Given the description of an element on the screen output the (x, y) to click on. 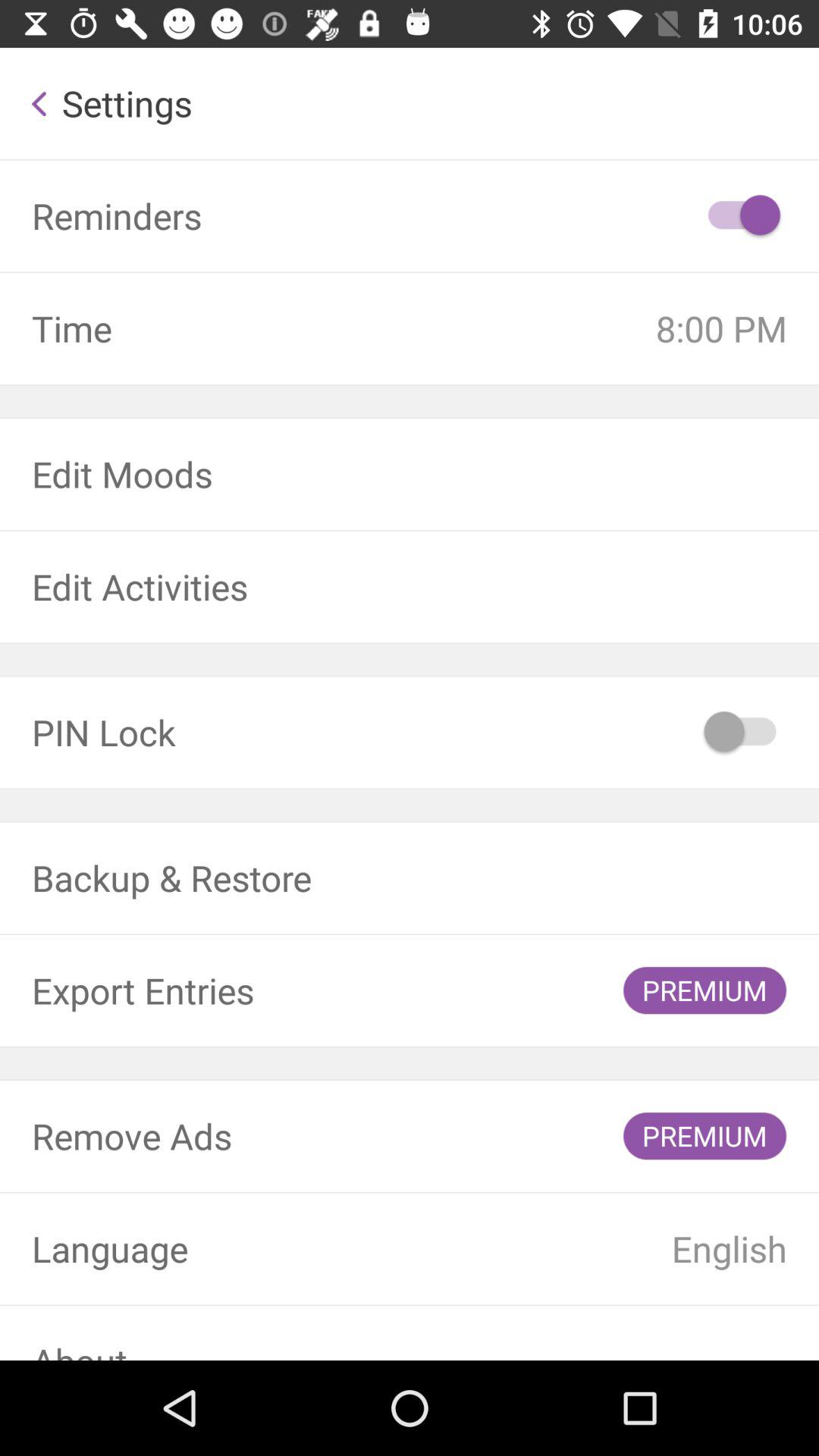
activate pin lock (742, 732)
